Given the description of an element on the screen output the (x, y) to click on. 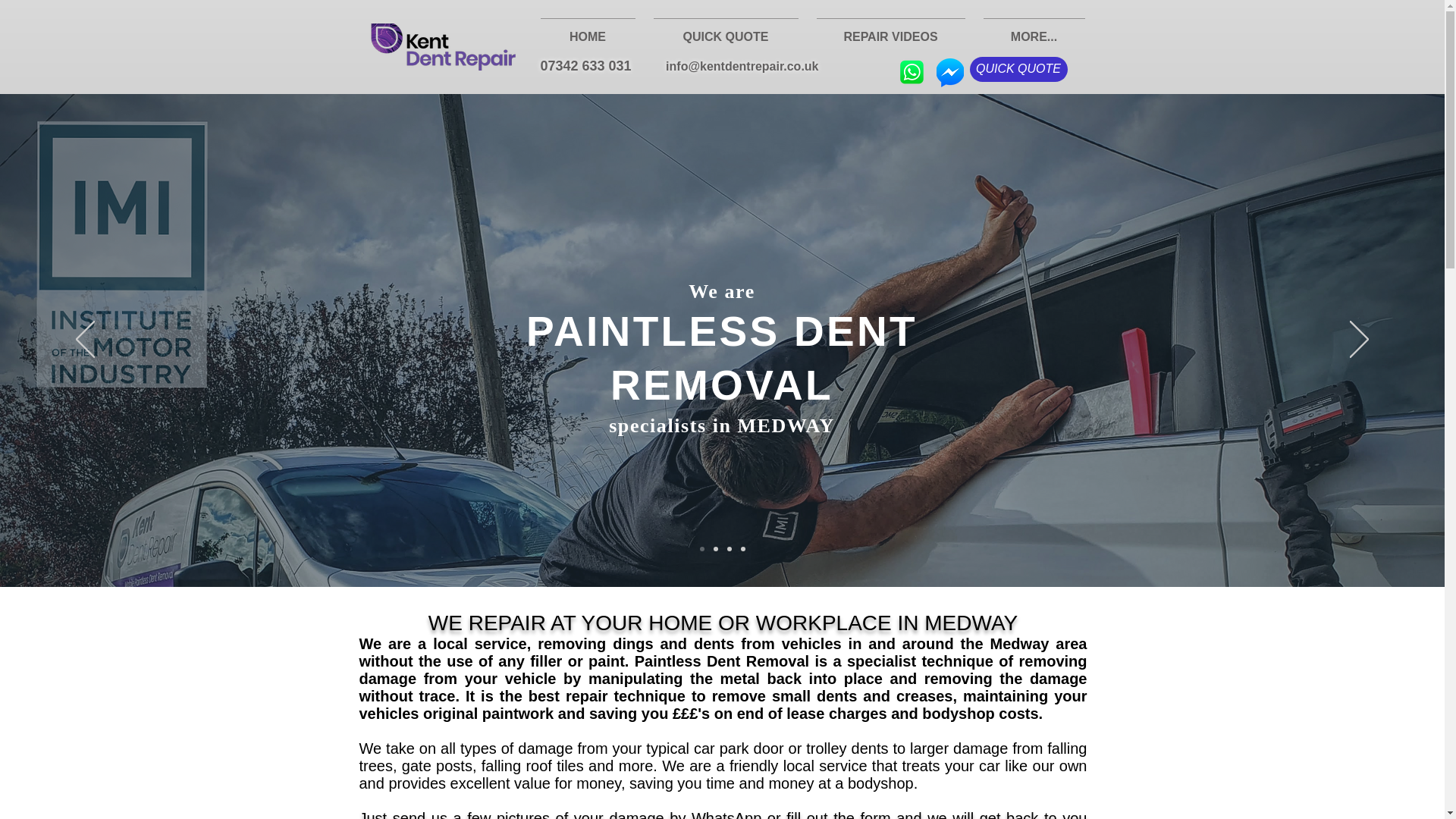
07342 633 031 (585, 65)
HOME (587, 29)
REPAIR VIDEOS (890, 29)
QUICK QUOTE (1018, 68)
QUICK QUOTE (726, 29)
